Given the description of an element on the screen output the (x, y) to click on. 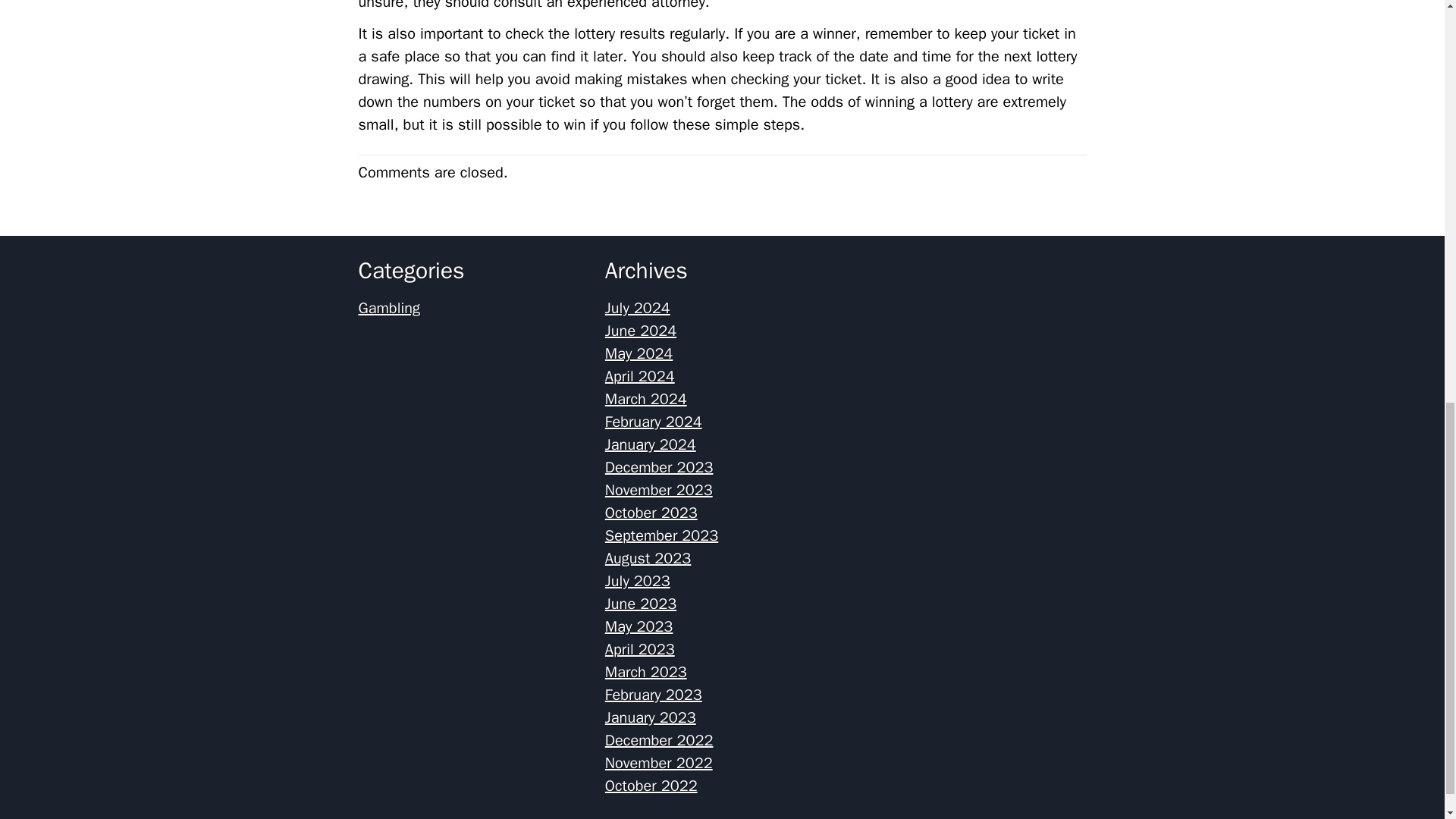
April 2024 (640, 375)
March 2023 (646, 671)
February 2023 (653, 694)
February 2024 (653, 421)
November 2023 (659, 489)
June 2023 (641, 603)
January 2024 (650, 444)
May 2023 (638, 626)
April 2023 (640, 649)
August 2023 (648, 558)
December 2022 (659, 740)
December 2023 (659, 466)
January 2023 (650, 717)
March 2024 (646, 398)
June 2024 (641, 330)
